Given the description of an element on the screen output the (x, y) to click on. 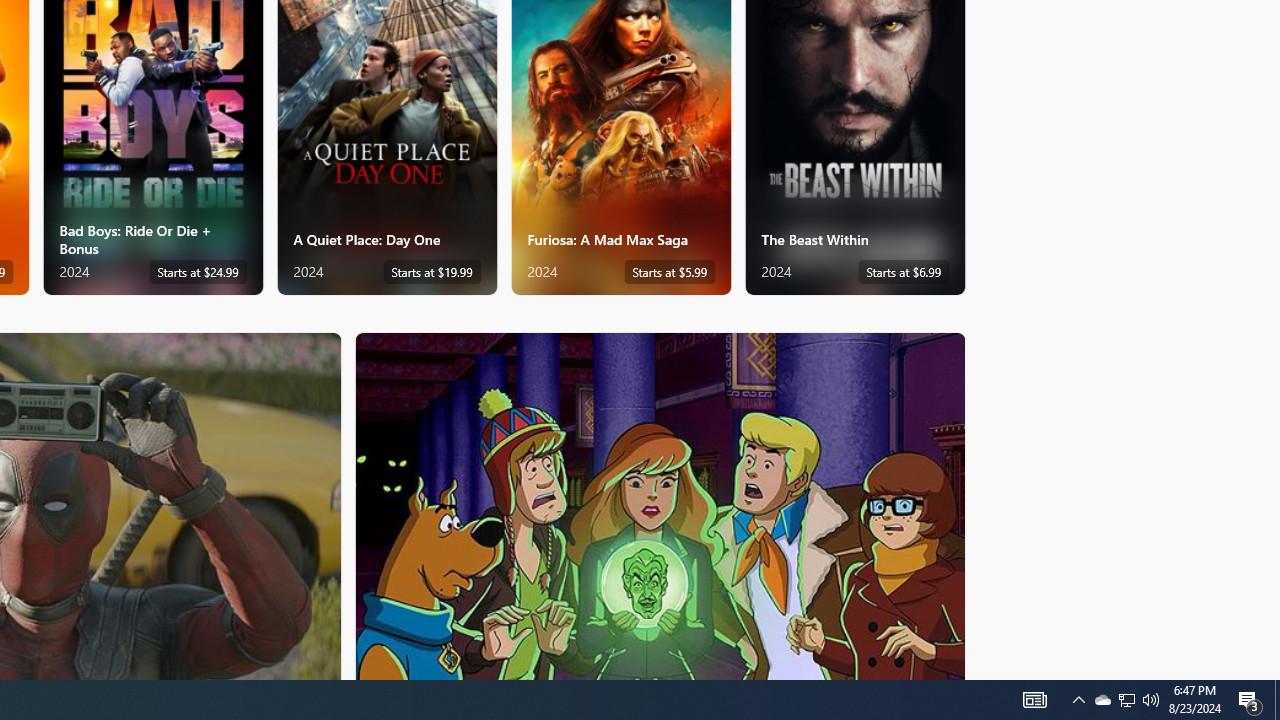
AutomationID: PosterImage (658, 505)
Family (660, 505)
